Given the description of an element on the screen output the (x, y) to click on. 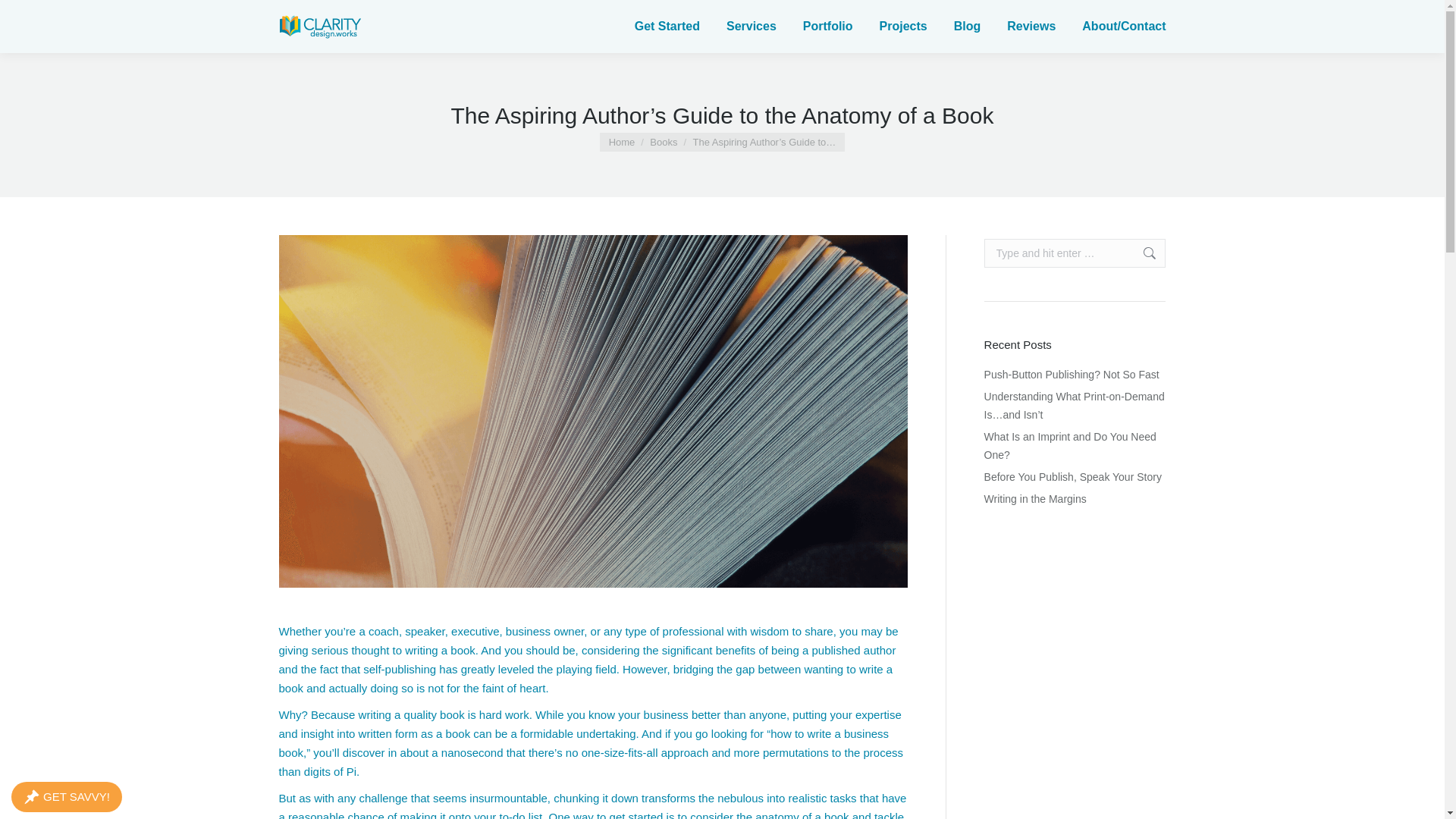
Go! (1141, 253)
Reviews (1029, 26)
Services (749, 26)
Blog (965, 26)
Get Started (665, 26)
Go! (1141, 253)
Books (663, 142)
Home (621, 142)
Portfolio (826, 26)
Projects (901, 26)
